Given the description of an element on the screen output the (x, y) to click on. 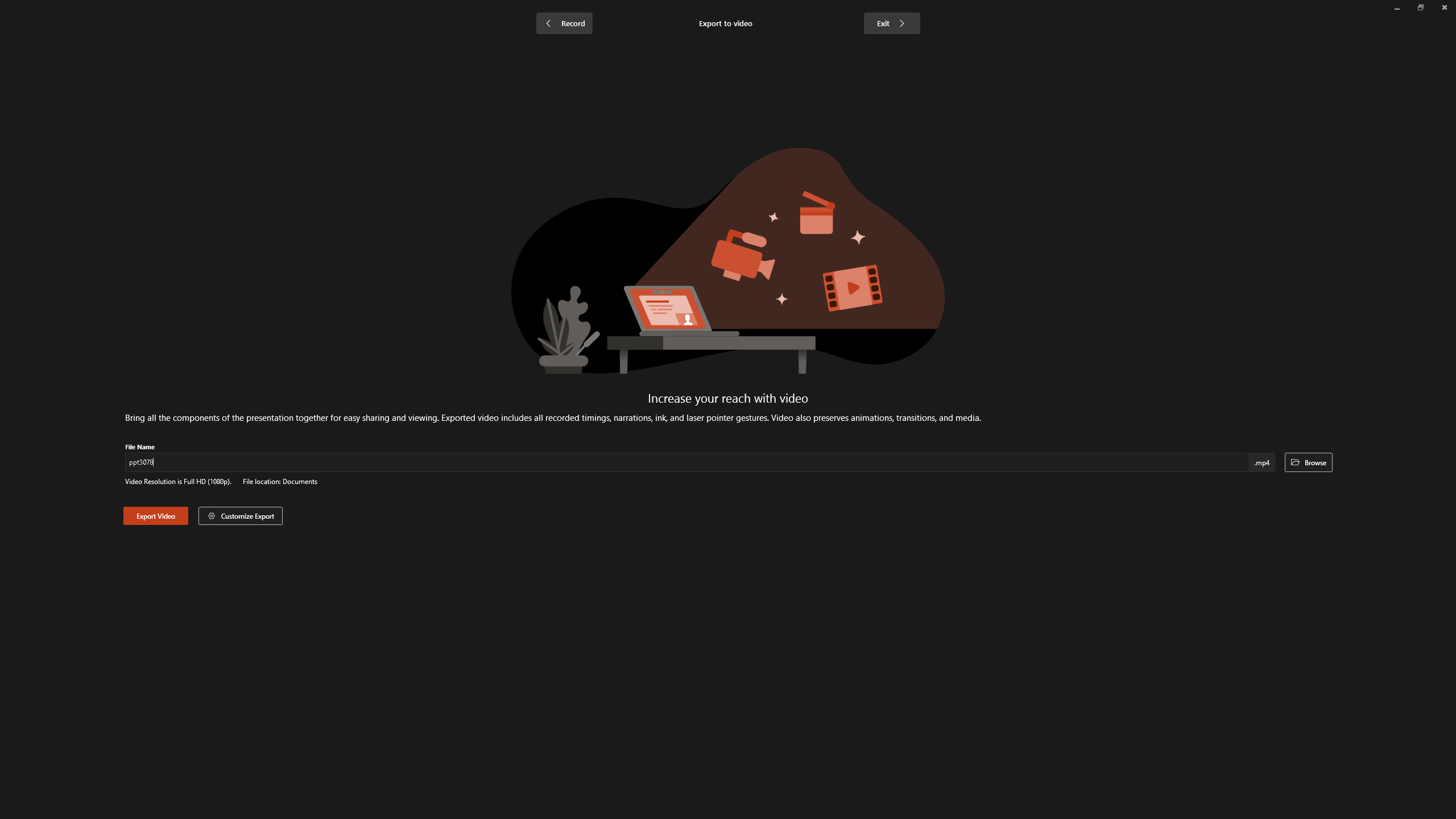
Filename (687, 464)
